Given the description of an element on the screen output the (x, y) to click on. 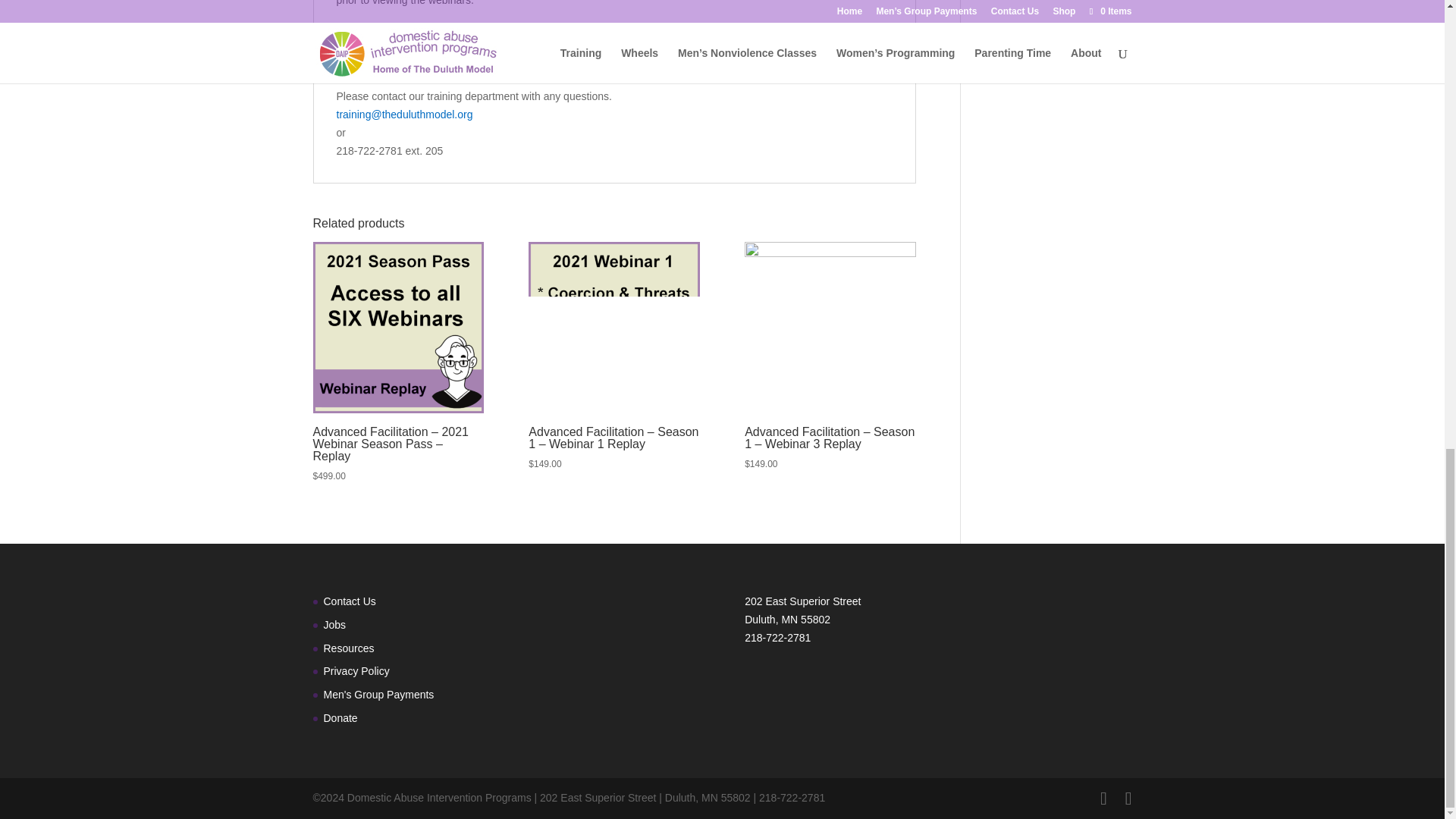
Resources (348, 648)
Contact Us (349, 601)
Jobs (334, 624)
Donate (339, 717)
Men's Group Payments (378, 694)
Privacy Policy (355, 671)
